Given the description of an element on the screen output the (x, y) to click on. 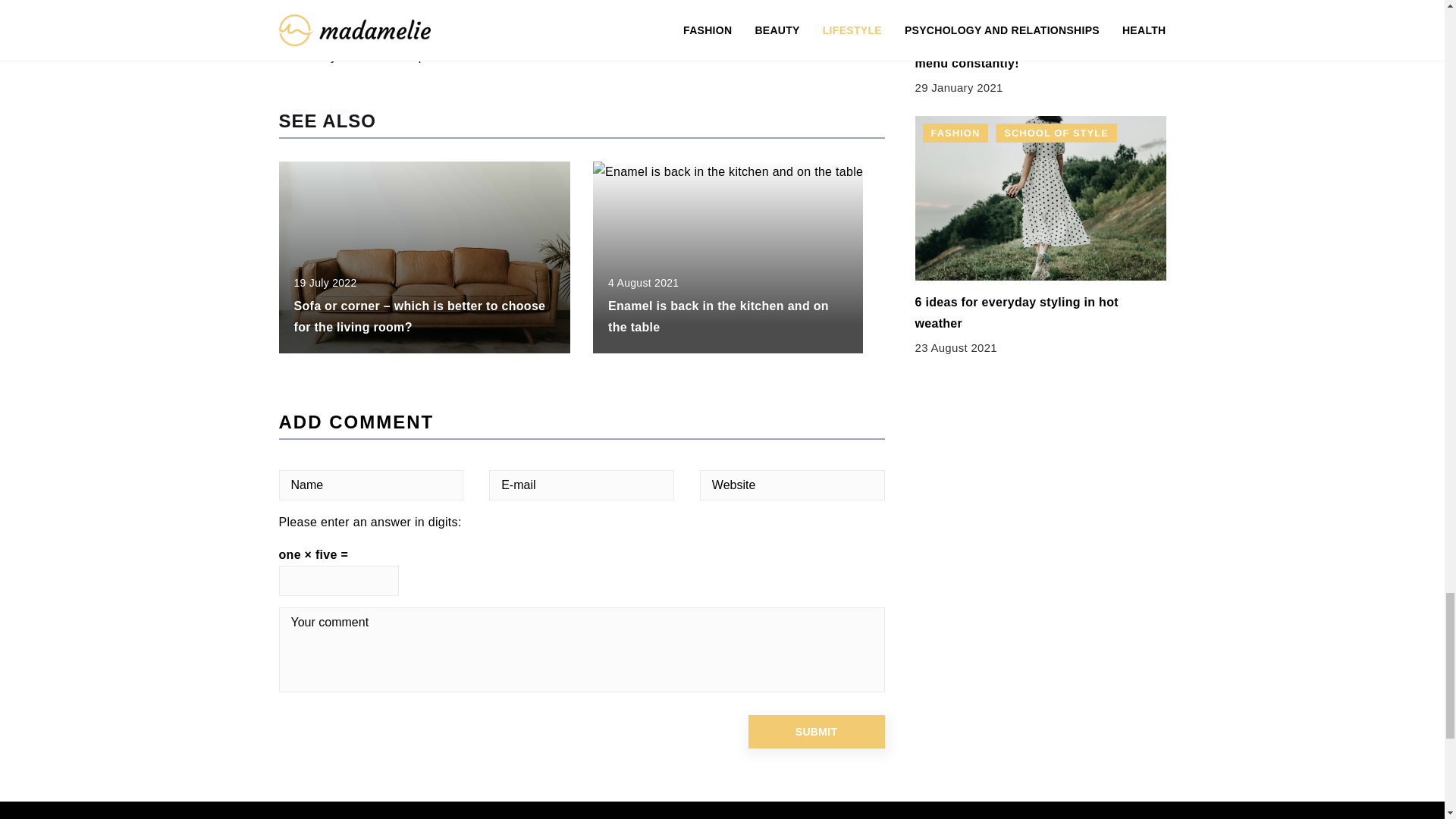
Submit (815, 731)
Enamel is back in the kitchen and on the table (718, 316)
Submit (815, 731)
